Given the description of an element on the screen output the (x, y) to click on. 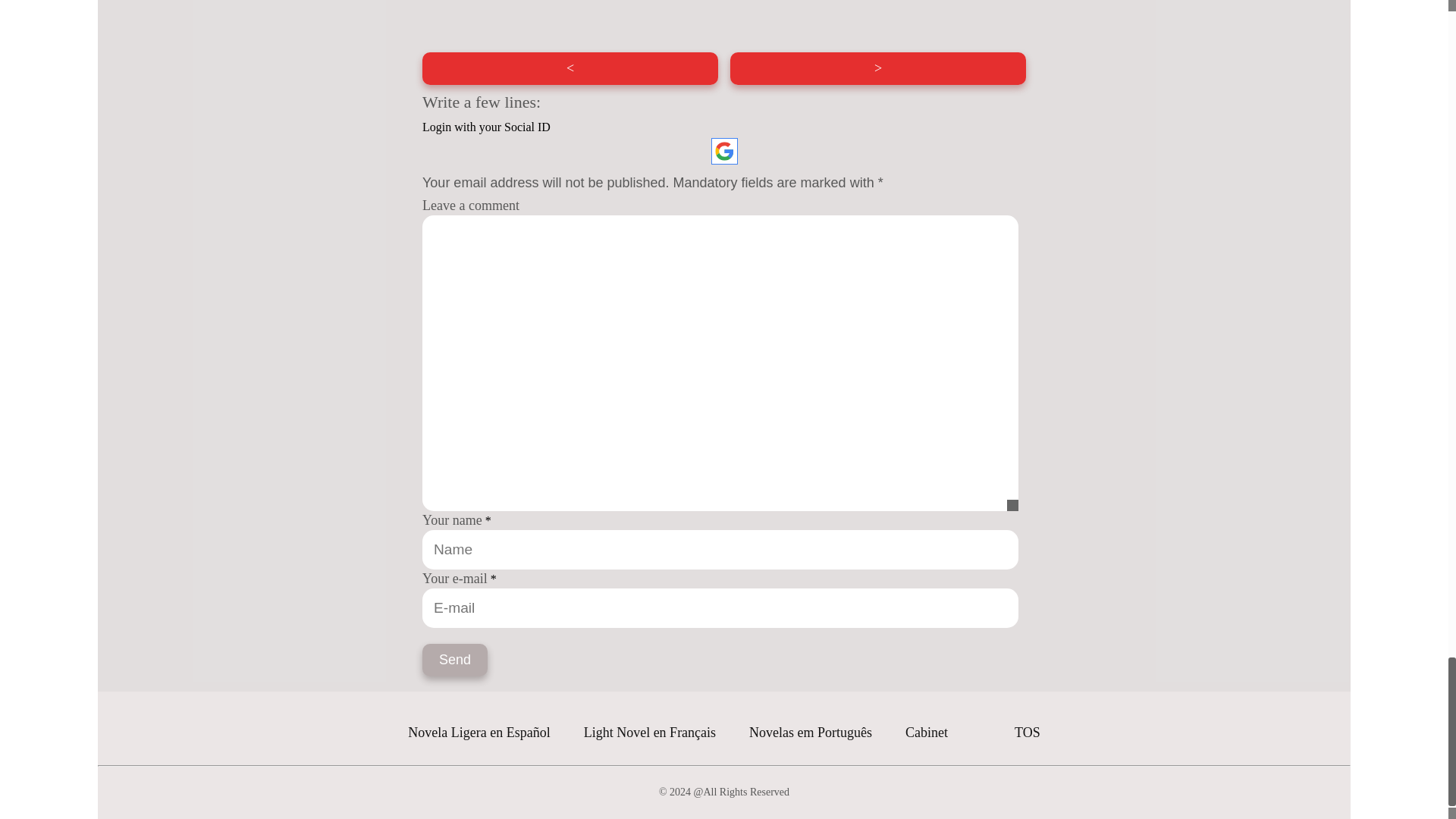
Cabinet (926, 732)
Send (454, 659)
TOS (1027, 732)
Send (454, 659)
Login with Google (724, 151)
